Given the description of an element on the screen output the (x, y) to click on. 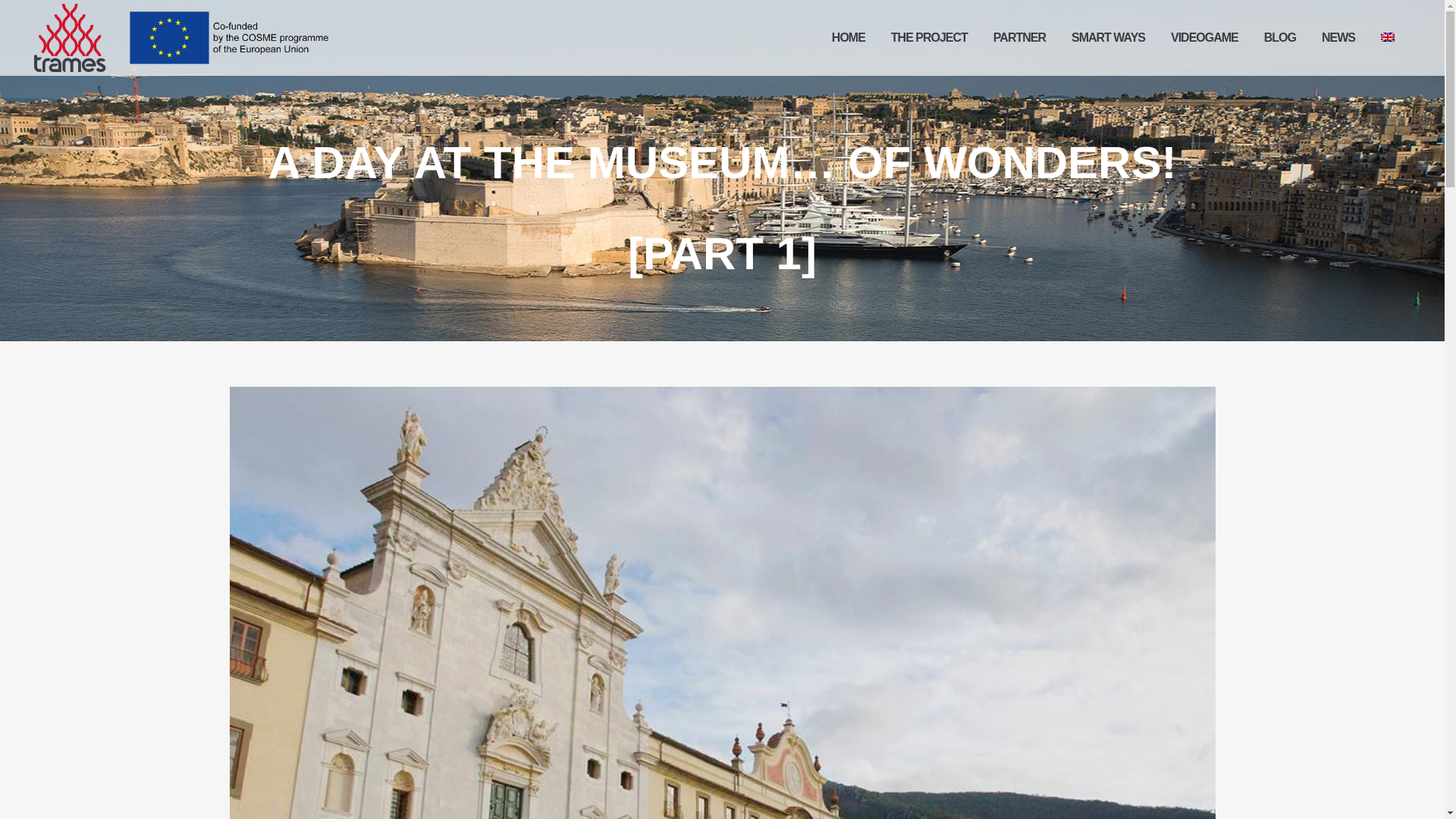
THE PROJECT (928, 38)
PARTNER (1018, 38)
SMART WAYS (1107, 38)
VIDEOGAME (1203, 38)
HOME (847, 38)
NEWS (1338, 38)
BLOG (1279, 38)
